Given the description of an element on the screen output the (x, y) to click on. 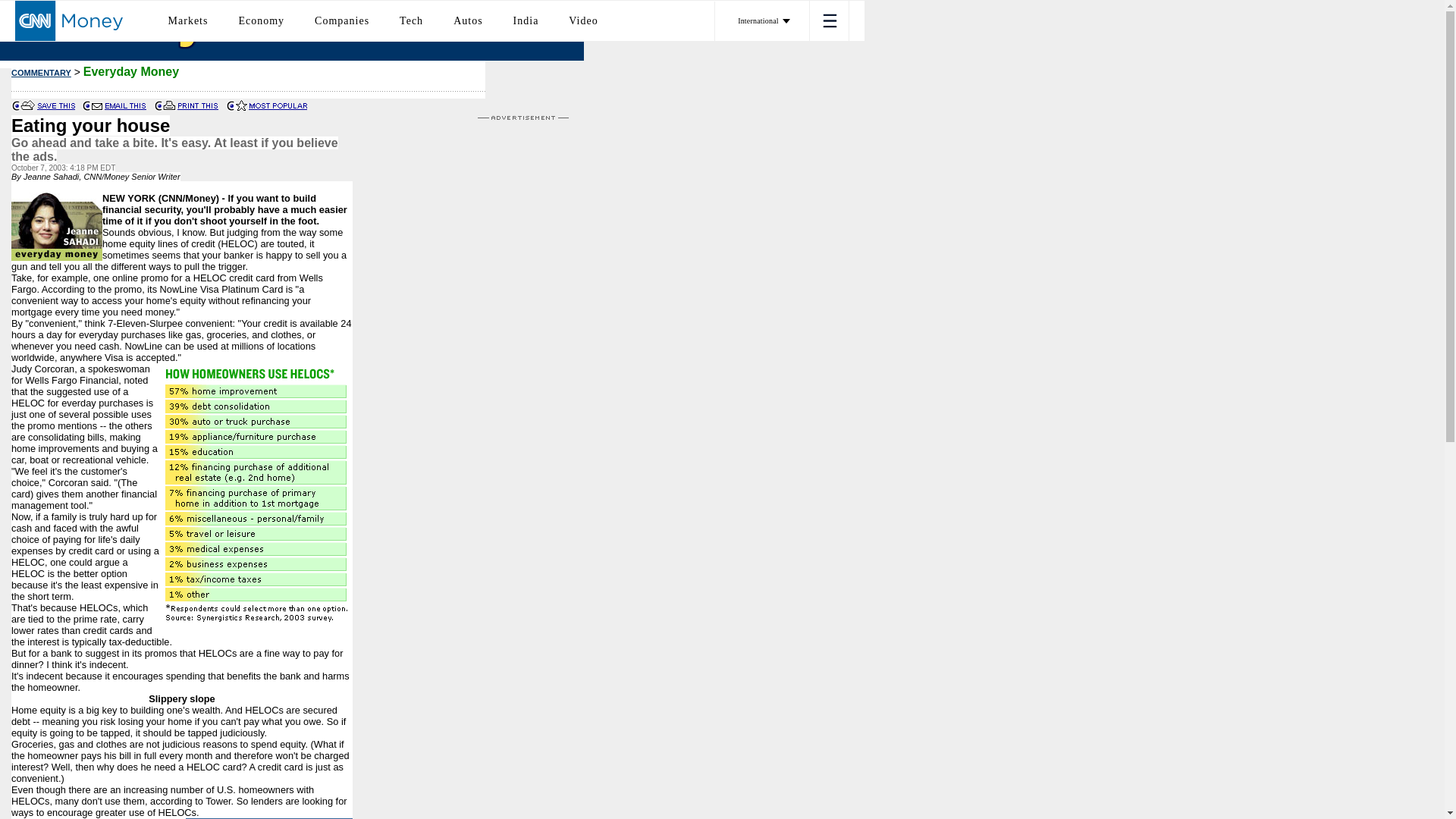
Tech (410, 20)
View a list of the most popular articles on our site (236, 105)
Email a link to this article (92, 105)
Printer-friendly version of this article (165, 105)
Email a link to this article (125, 105)
Economy (260, 20)
Printer-friendly version of this article (198, 105)
Autos (466, 20)
Companies (341, 20)
